Given the description of an element on the screen output the (x, y) to click on. 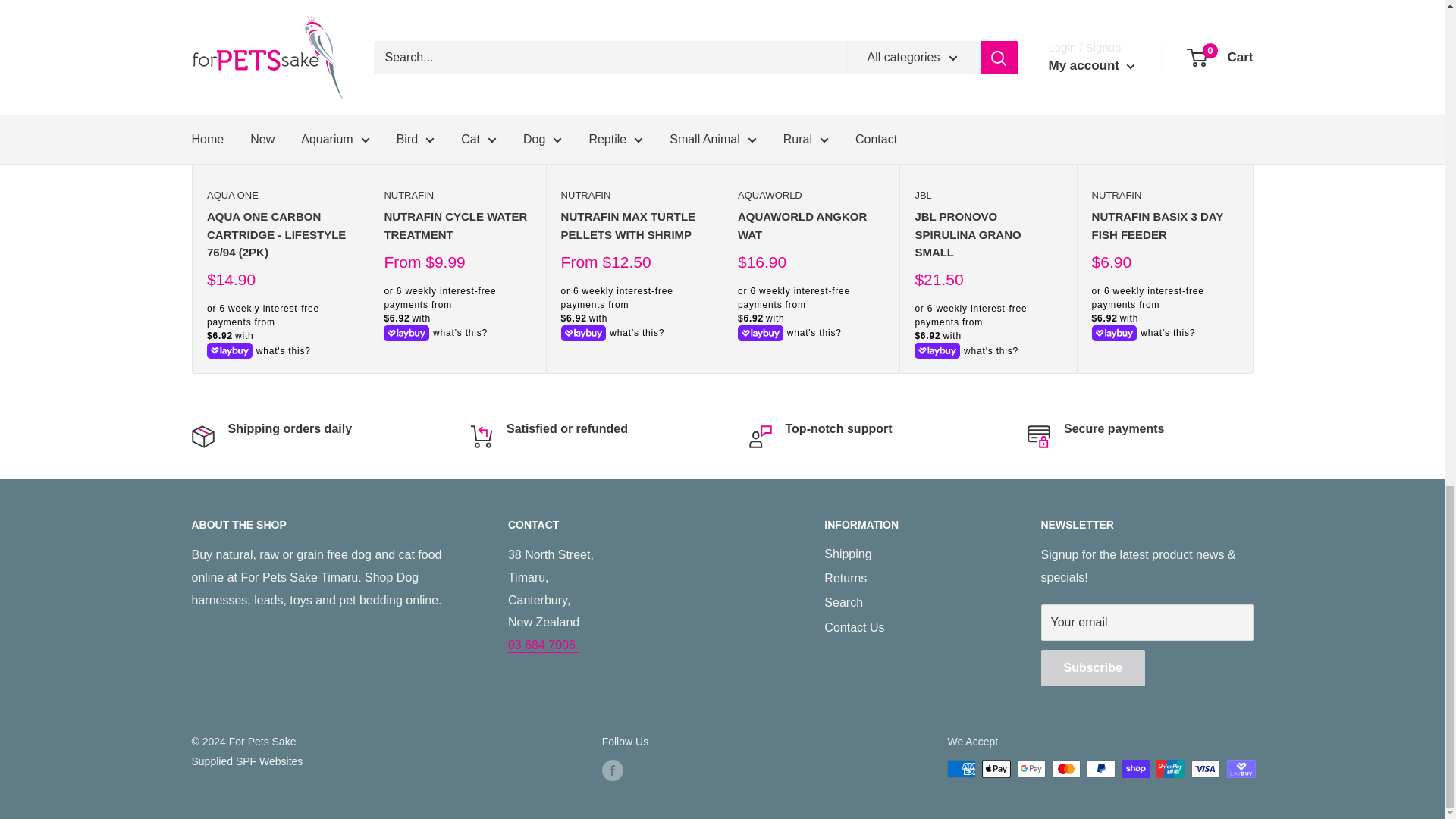
SPF (246, 761)
